Given the description of an element on the screen output the (x, y) to click on. 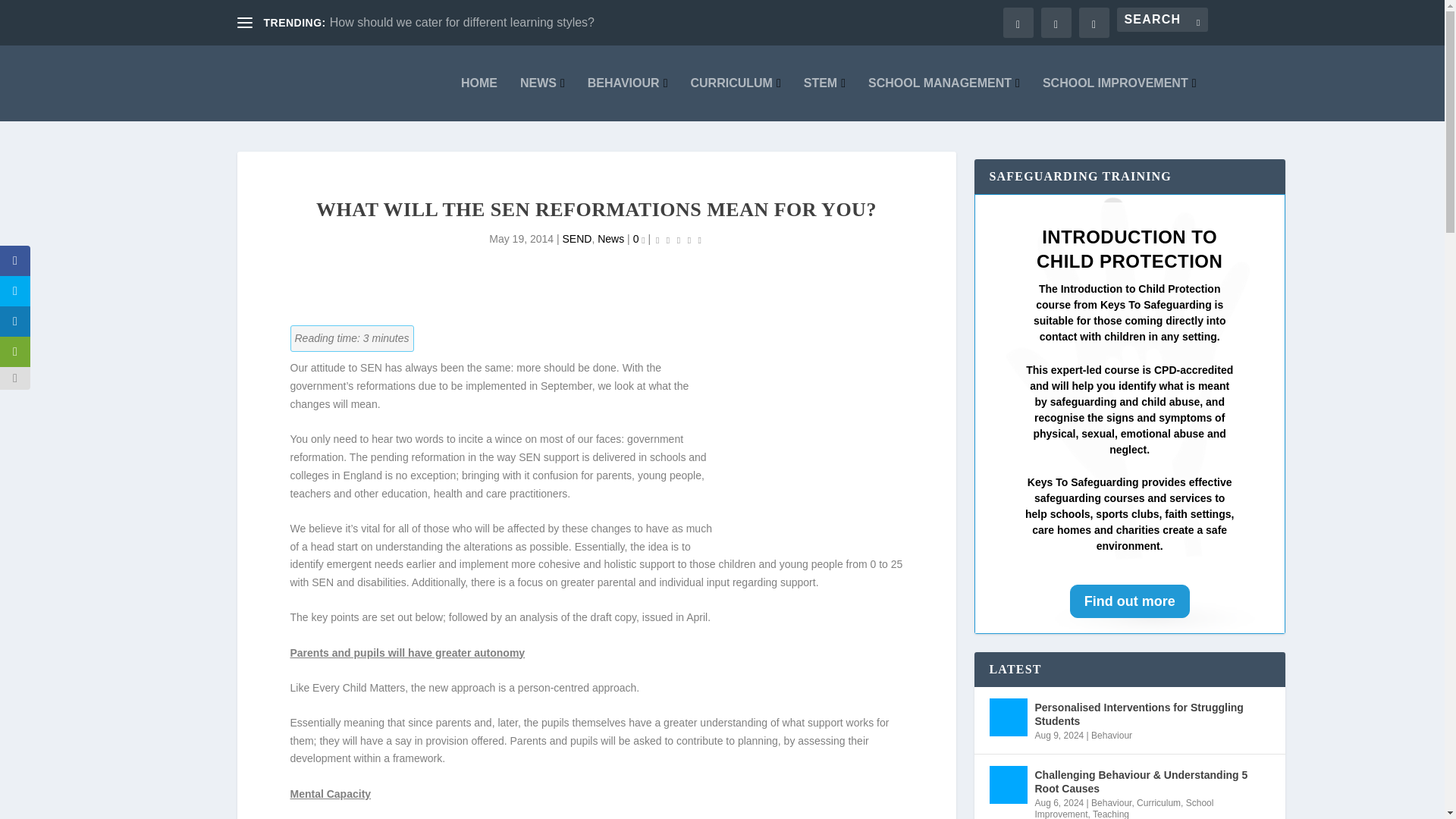
NEWS (541, 98)
Search for: (1161, 19)
Rating: 0.00 (678, 239)
STEM (824, 98)
CURRICULUM (735, 98)
How should we cater for different learning styles? (462, 21)
BEHAVIOUR (628, 98)
SCHOOL MANAGEMENT (943, 98)
